Given the description of an element on the screen output the (x, y) to click on. 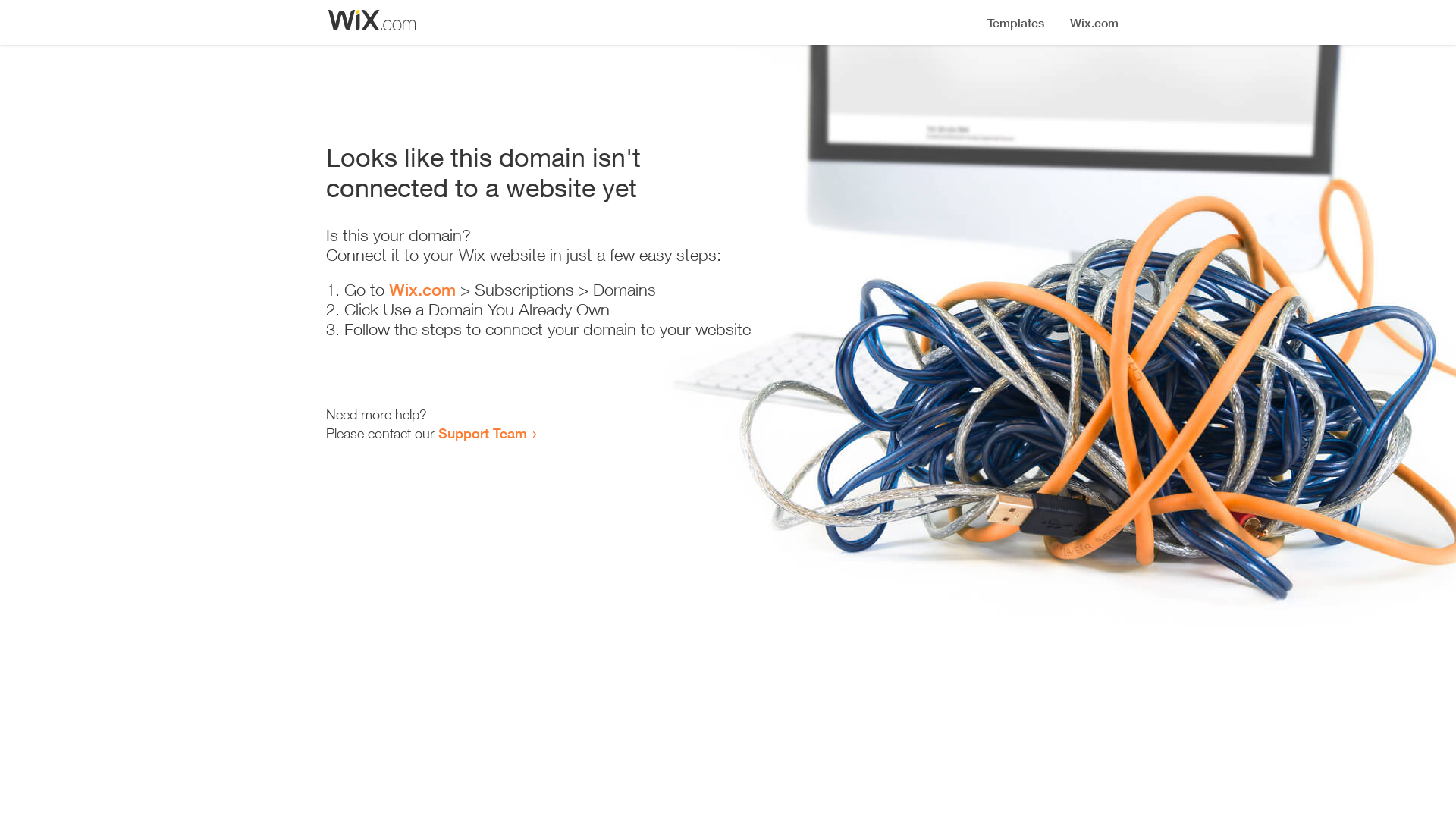
Support Team Element type: text (482, 432)
Wix.com Element type: text (422, 289)
